Given the description of an element on the screen output the (x, y) to click on. 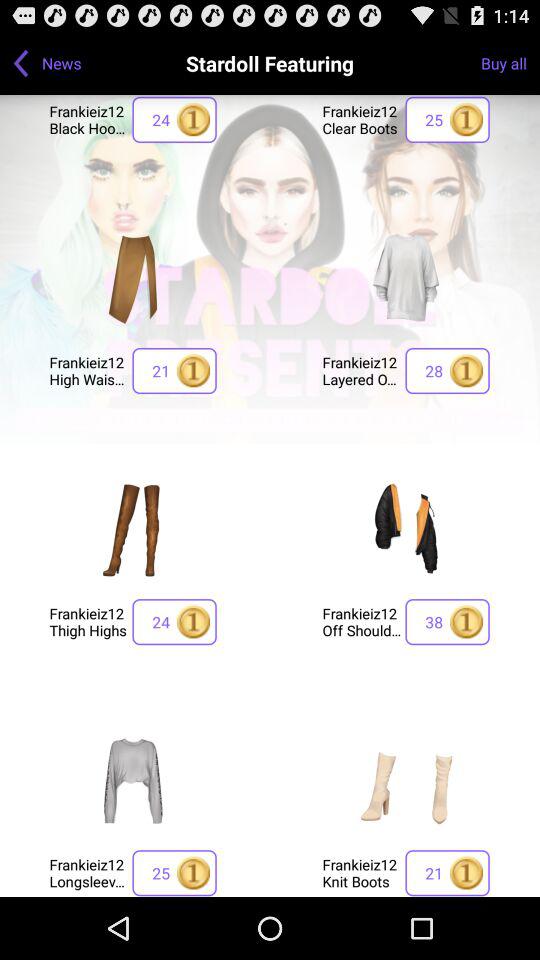
return to previous page (21, 63)
